Given the description of an element on the screen output the (x, y) to click on. 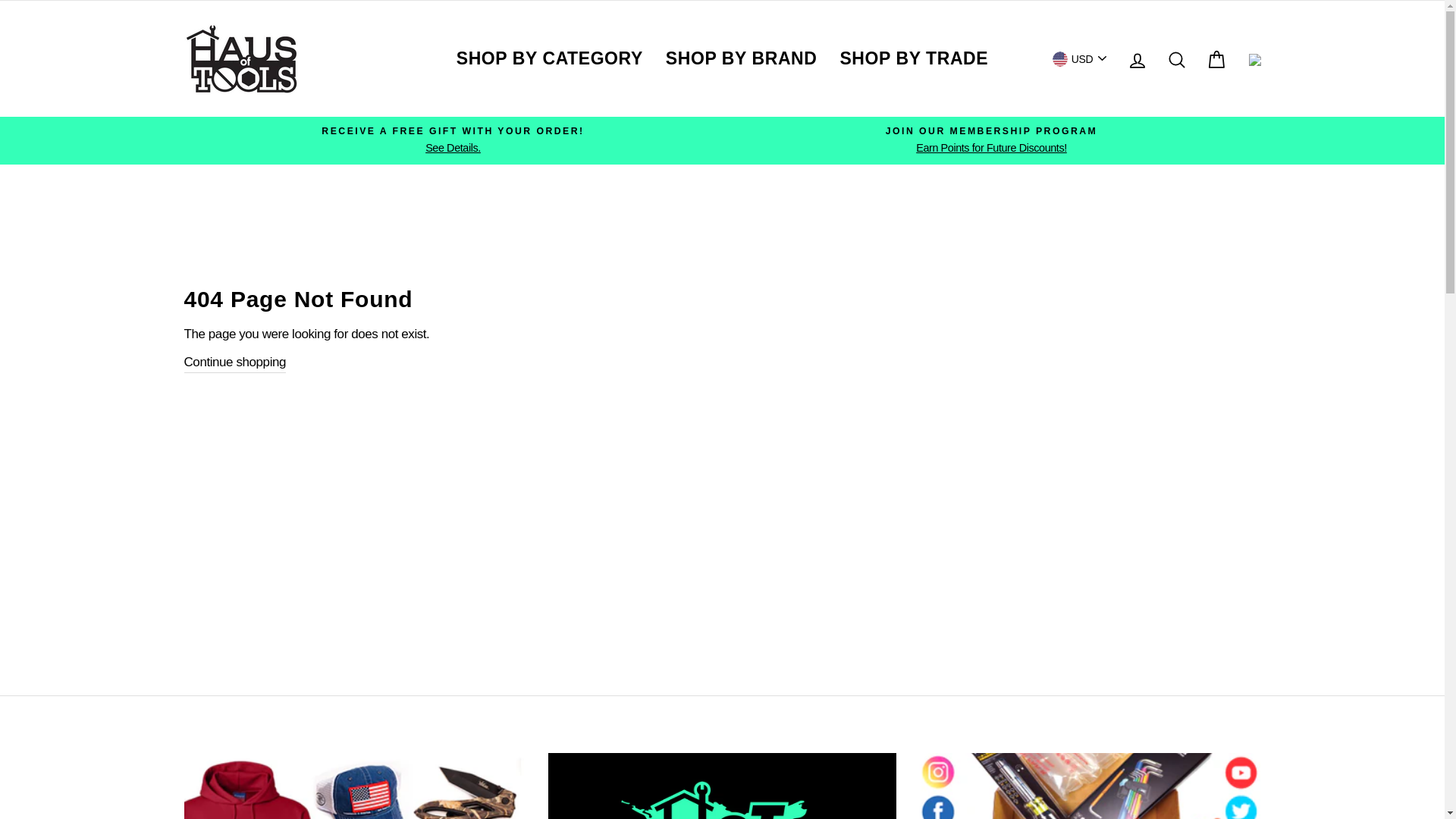
Rewards (1254, 58)
